Given the description of an element on the screen output the (x, y) to click on. 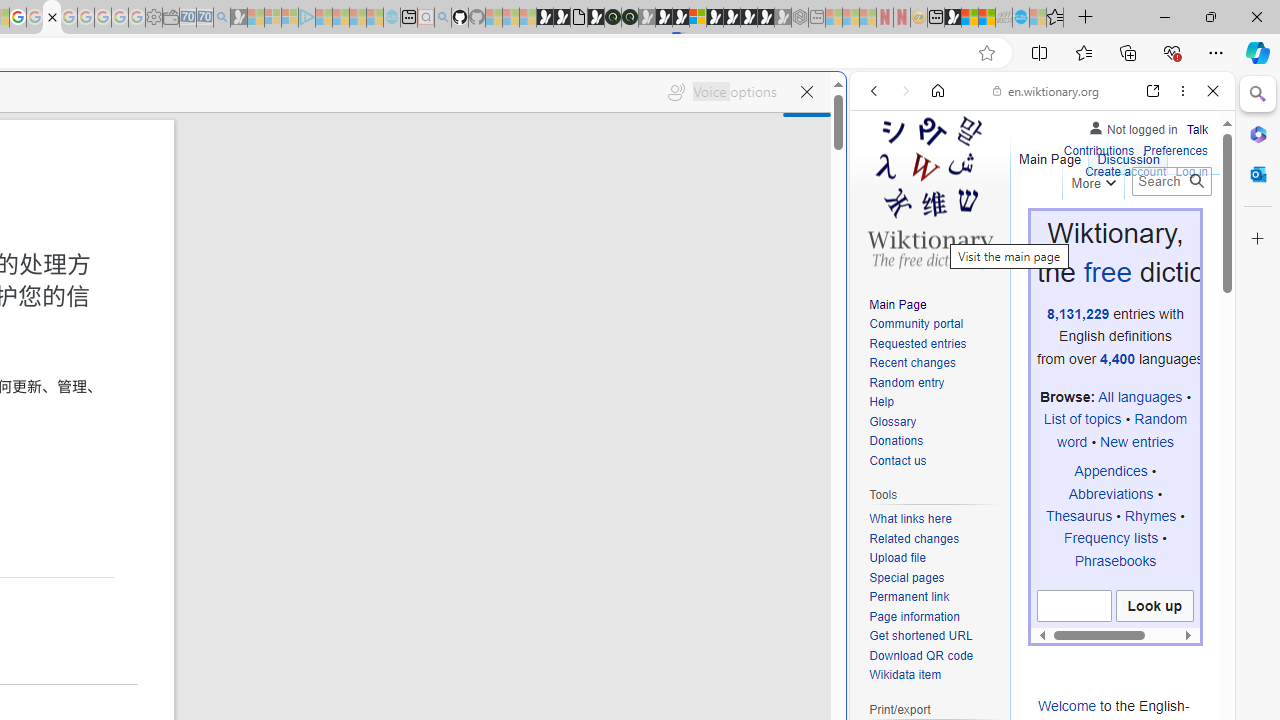
Wiktionary (1034, 669)
Close split screen (844, 102)
Random word (1122, 430)
Download QR code (934, 655)
Recent changes (934, 363)
Log in (1191, 169)
Play Zoo Boom in your browser | Games from Microsoft Start (561, 17)
